Given the description of an element on the screen output the (x, y) to click on. 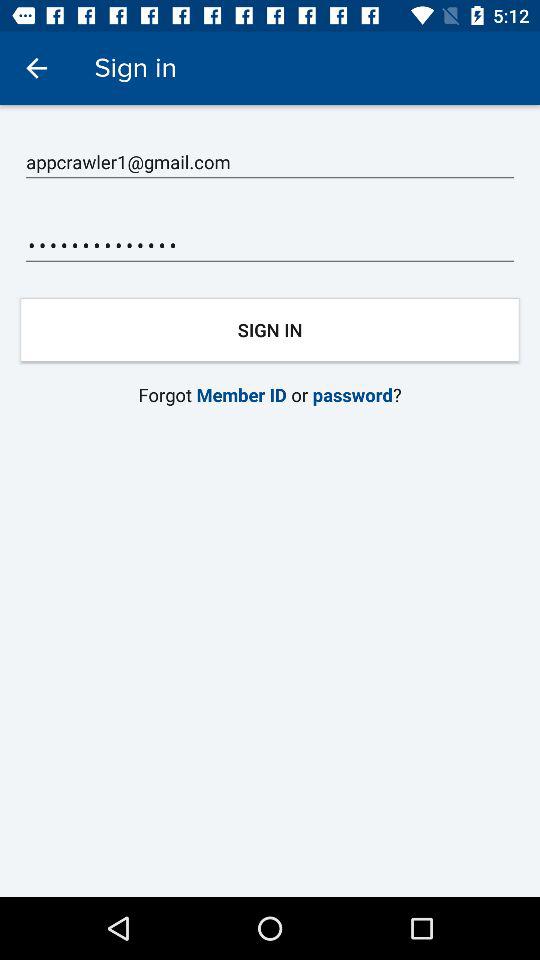
scroll to appcrawler3116 (270, 246)
